Given the description of an element on the screen output the (x, y) to click on. 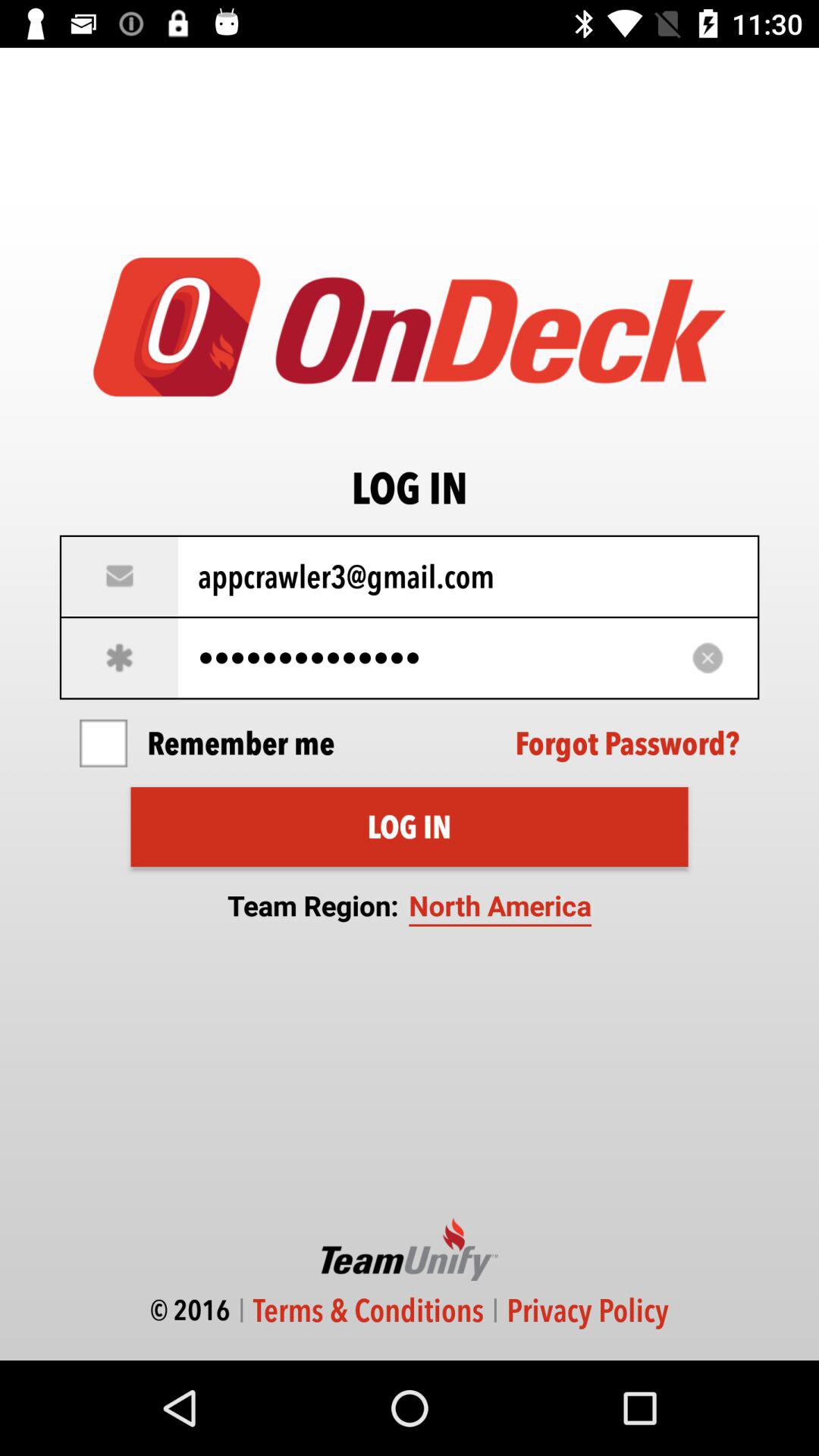
press icon to the left of remember me icon (103, 743)
